Given the description of an element on the screen output the (x, y) to click on. 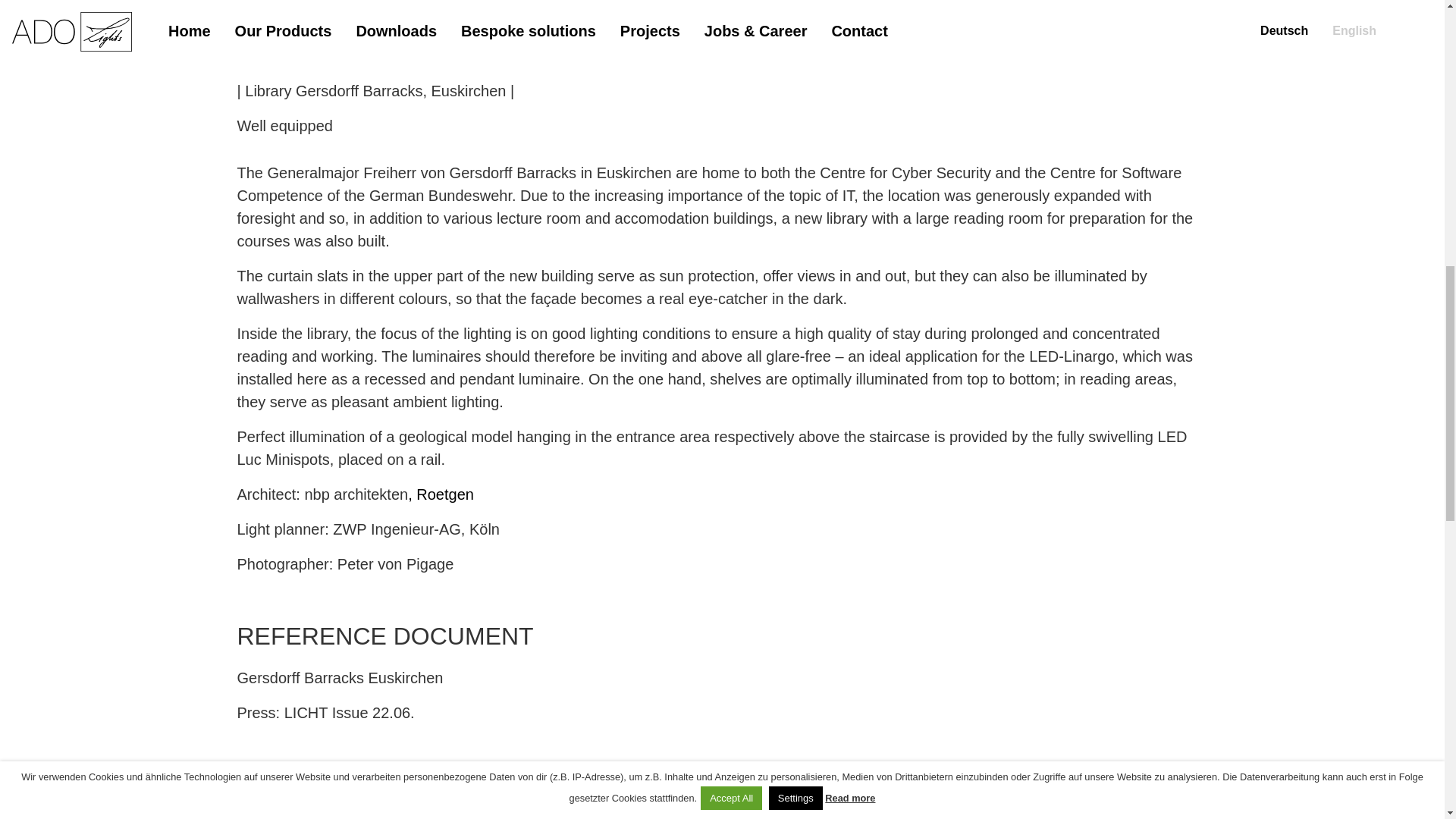
Gersdorff Barracks Euskirchen (338, 677)
LED WallWasher (292, 818)
Library Gersdorff Barracks, Euskirchen (576, 39)
Page 2 (721, 534)
Press: LICHT Issue 22.06. (324, 711)
Page 2 (721, 292)
Page 2 (721, 130)
Page 2 (721, 211)
Library Gersdorff Barracks, Euskirchen (576, 39)
